Given the description of an element on the screen output the (x, y) to click on. 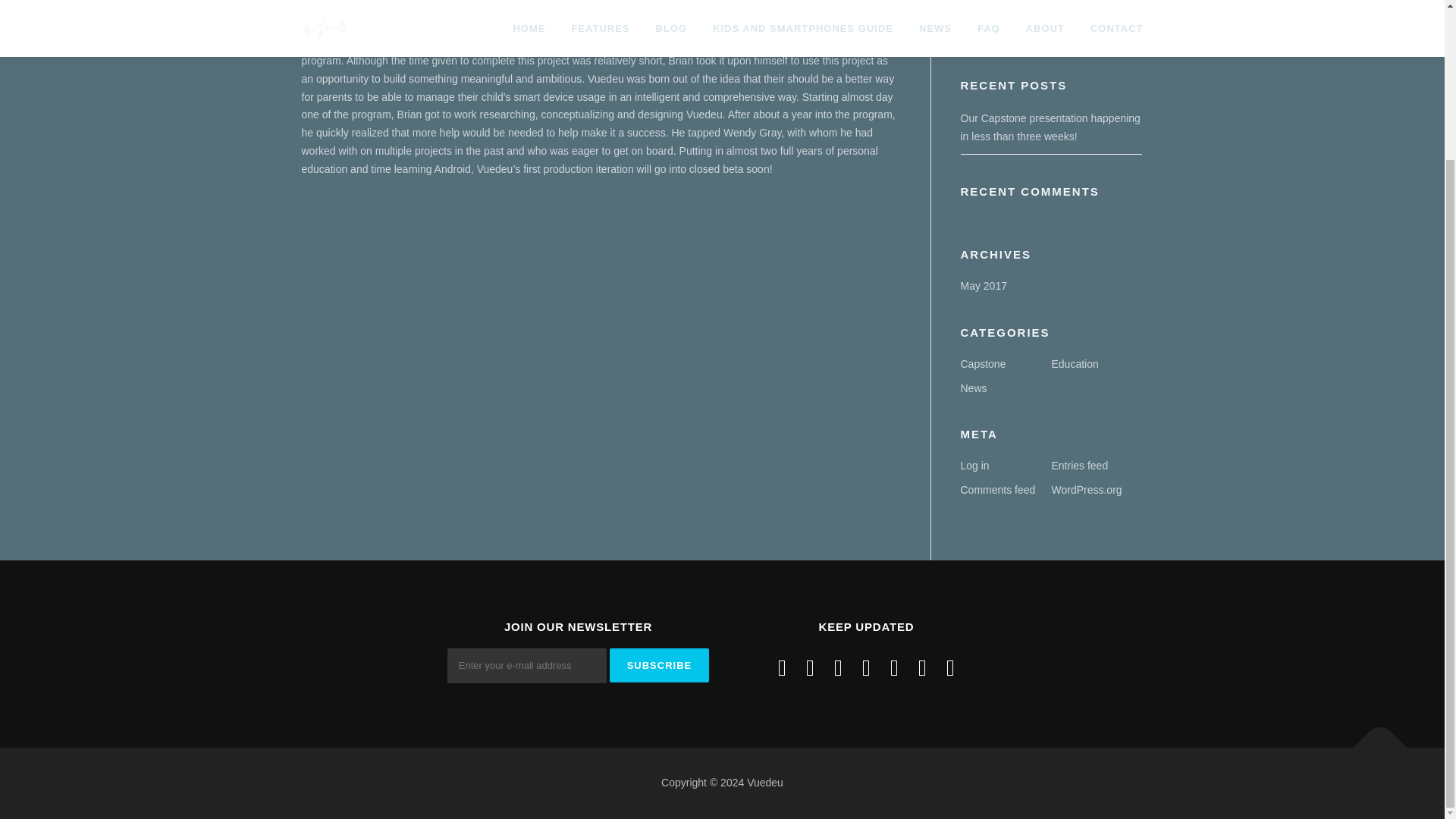
Log in (973, 465)
Subscribe (660, 665)
May 2017 (982, 285)
Search (1101, 31)
General news about us, our project et all. (973, 387)
Search (1101, 31)
News (973, 387)
Search (1101, 31)
Entries feed (1079, 465)
Comments feed (997, 490)
Capstone (982, 363)
WordPress.org (1086, 490)
Education (1074, 363)
Subscribe (660, 665)
